Given the description of an element on the screen output the (x, y) to click on. 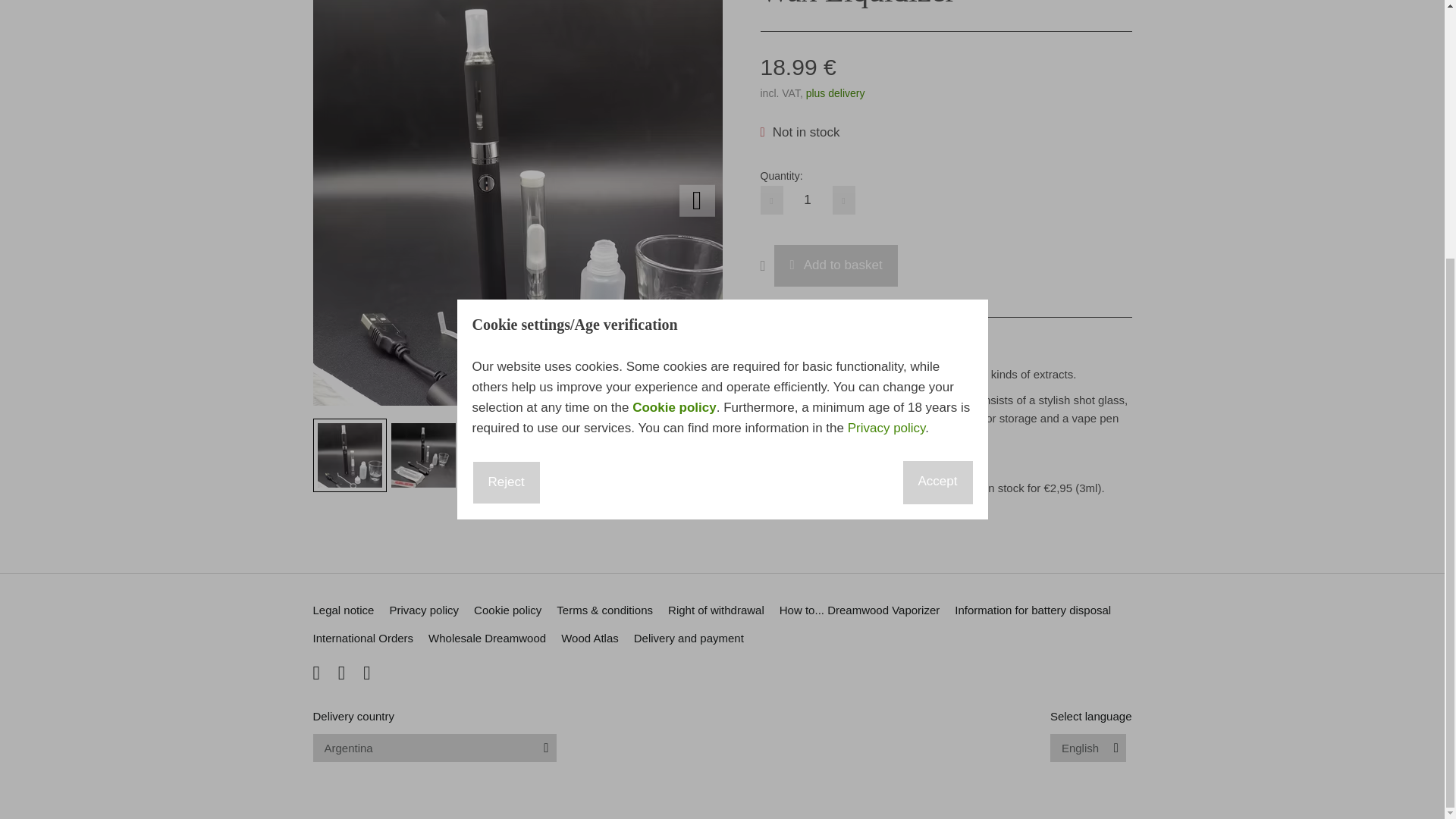
Add to wish list (767, 265)
1 (807, 199)
